Given the description of an element on the screen output the (x, y) to click on. 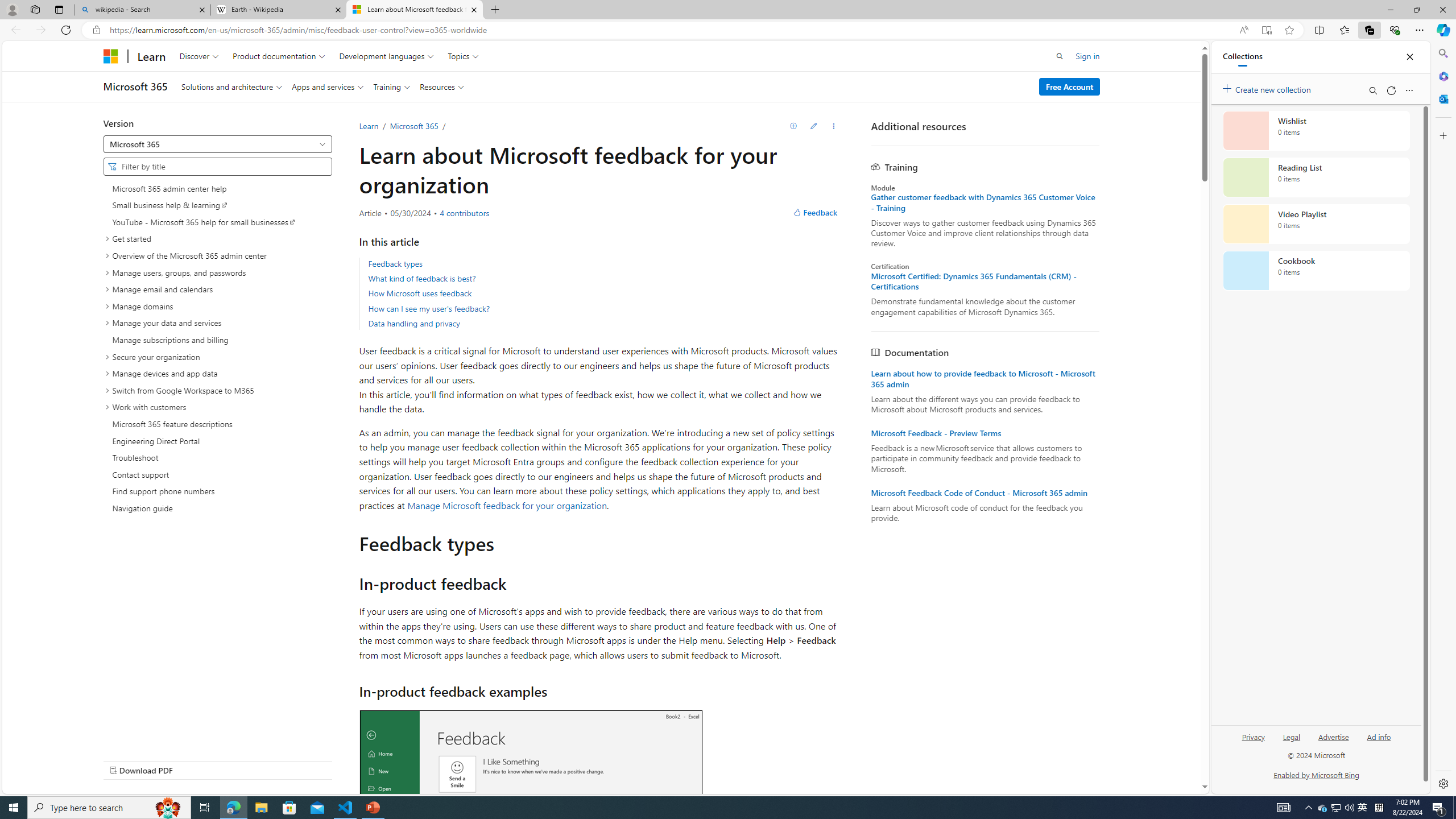
Resources (441, 86)
Refresh (1390, 90)
Earth - Wikipedia (277, 9)
Discover (199, 55)
Video Playlist collection, 0 items (1316, 223)
Download PDF (217, 769)
Side bar (1443, 418)
Privacy (1253, 736)
Feedback types (604, 264)
Microsoft Feedback Code of Conduct - Microsoft 365 admin (984, 492)
Back (13, 29)
Microsoft 365 (1442, 76)
Apps and services (327, 86)
Enter Immersive Reader (F9) (1266, 29)
